Given the description of an element on the screen output the (x, y) to click on. 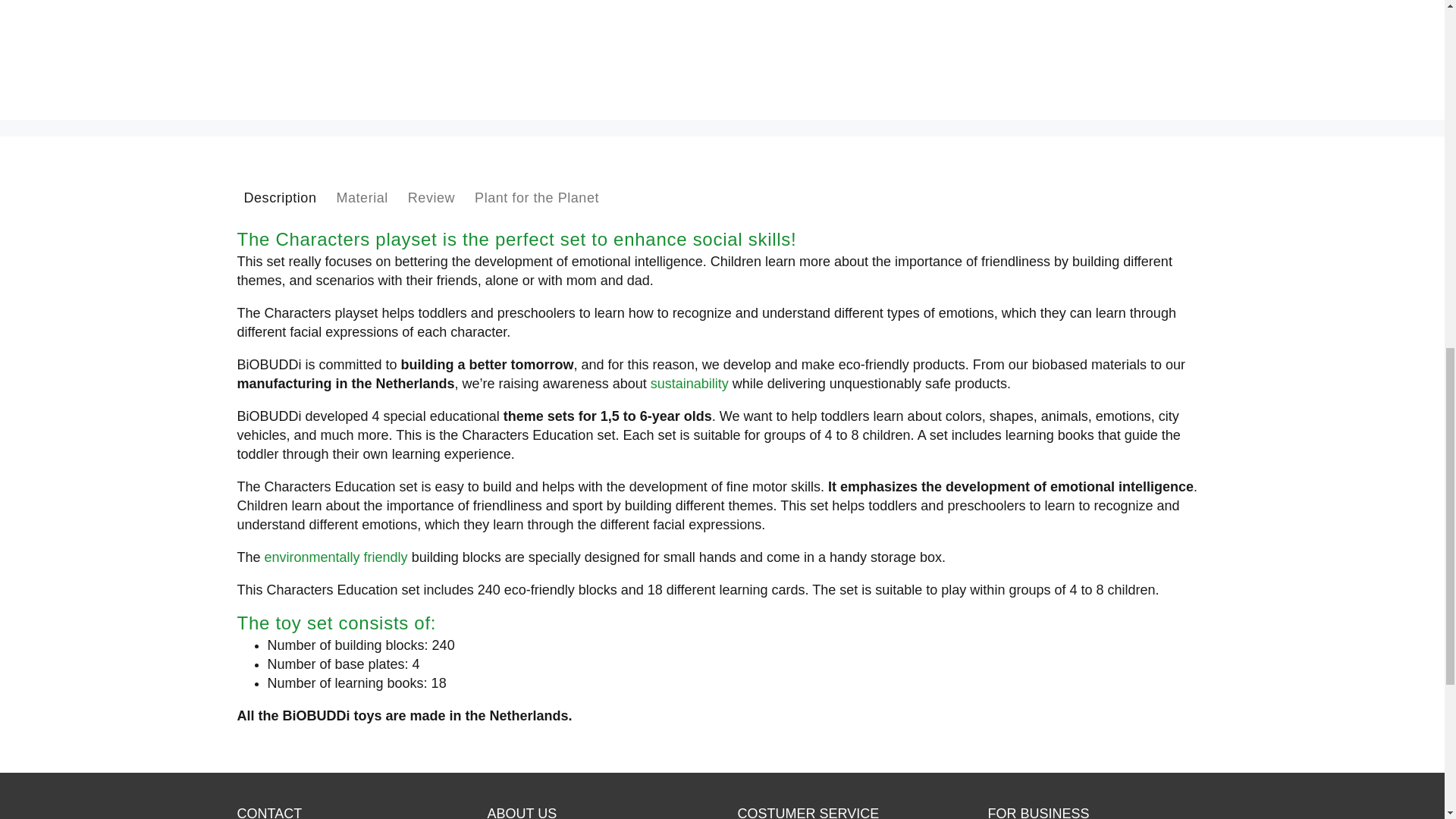
Description (279, 197)
